Given the description of an element on the screen output the (x, y) to click on. 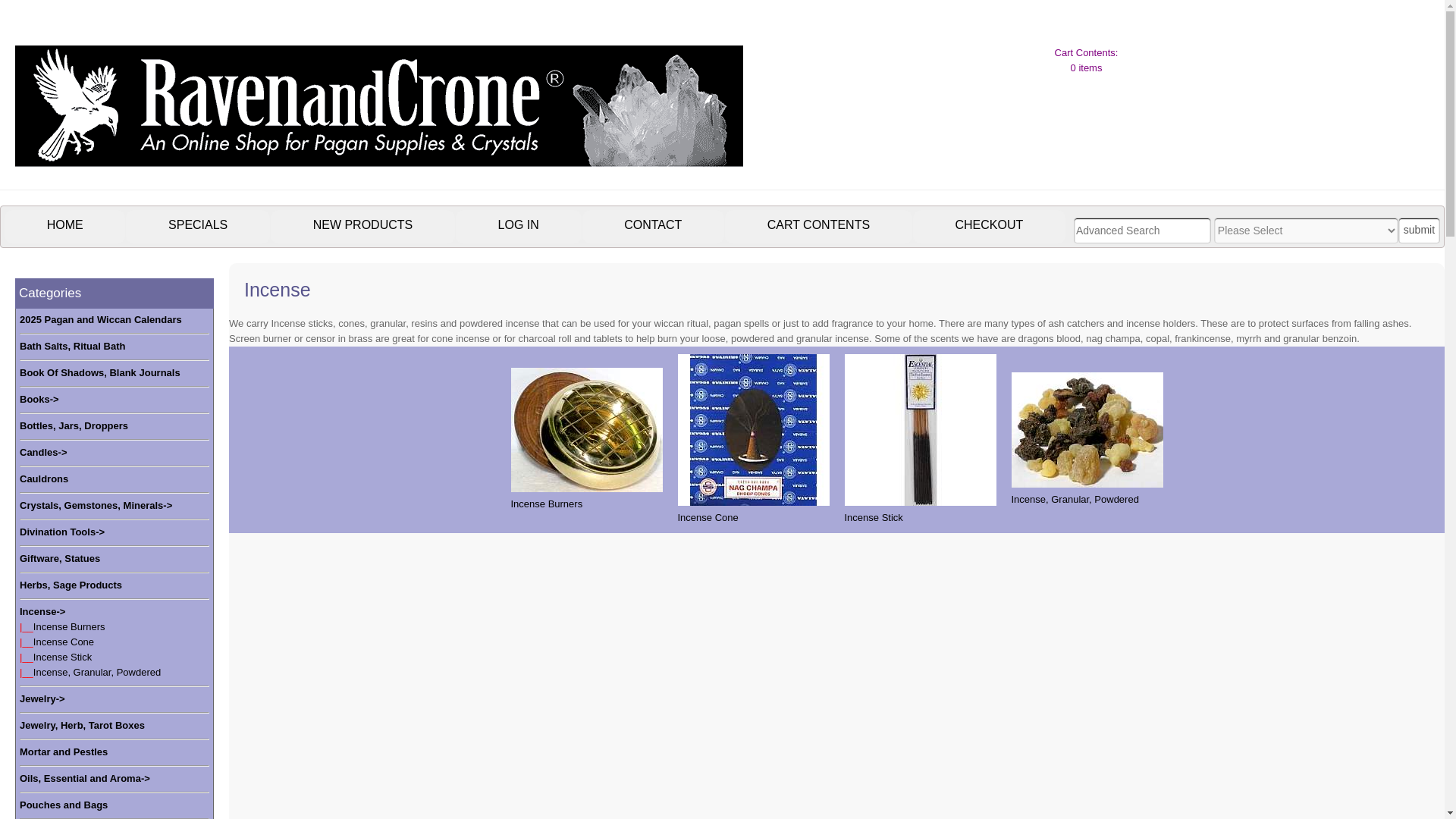
 Incense Burners  (586, 429)
Pouches and Bags (63, 805)
Herbs, Sage Products (71, 585)
 Incense, Granular, Powdered  (1087, 429)
Incense Burners (68, 626)
Incense Stick (62, 657)
Jewelry, Herb, Tarot Boxes (82, 725)
Incense Cone (63, 642)
 Incense Cone  (753, 429)
Raven And Crone (378, 154)
